Given the description of an element on the screen output the (x, y) to click on. 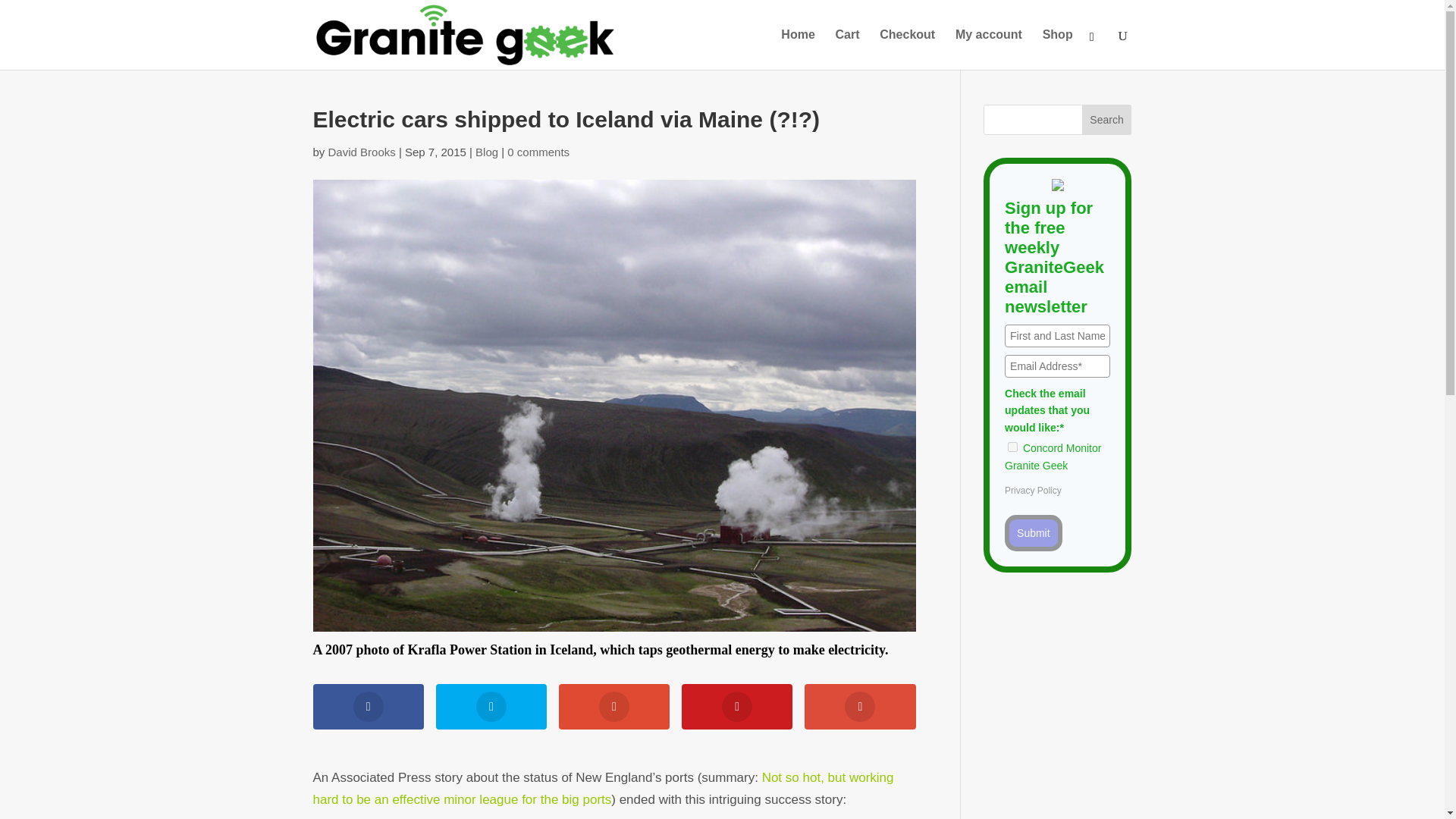
Privacy Policy (1032, 490)
25 (1012, 447)
Submit (1033, 533)
My account (988, 49)
Search (1106, 119)
Checkout (906, 49)
Blog (486, 151)
David Brooks (362, 151)
Posts by David Brooks (362, 151)
Search (1106, 119)
